Given the description of an element on the screen output the (x, y) to click on. 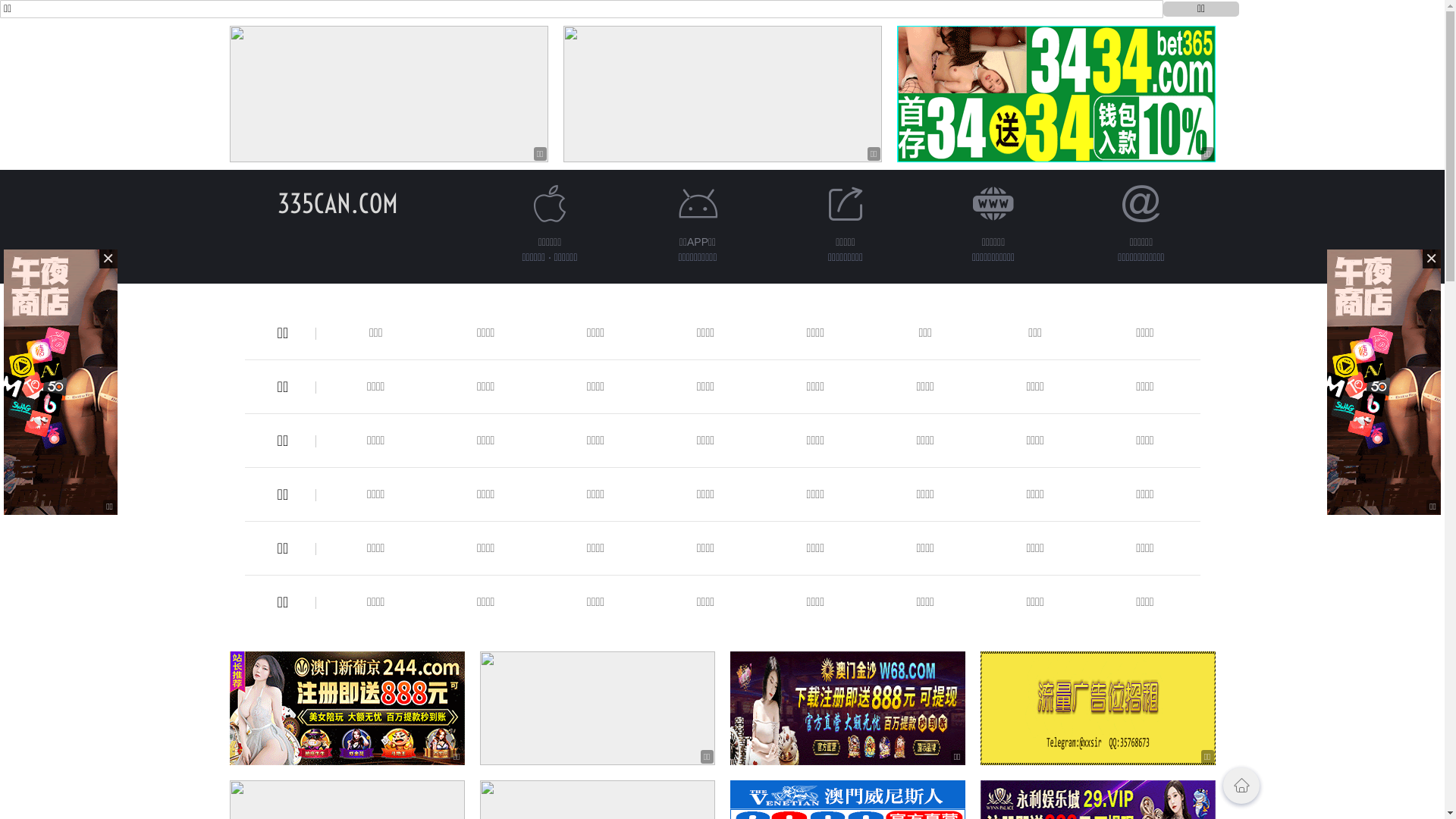
335CAN.COM Element type: text (337, 203)
